Given the description of an element on the screen output the (x, y) to click on. 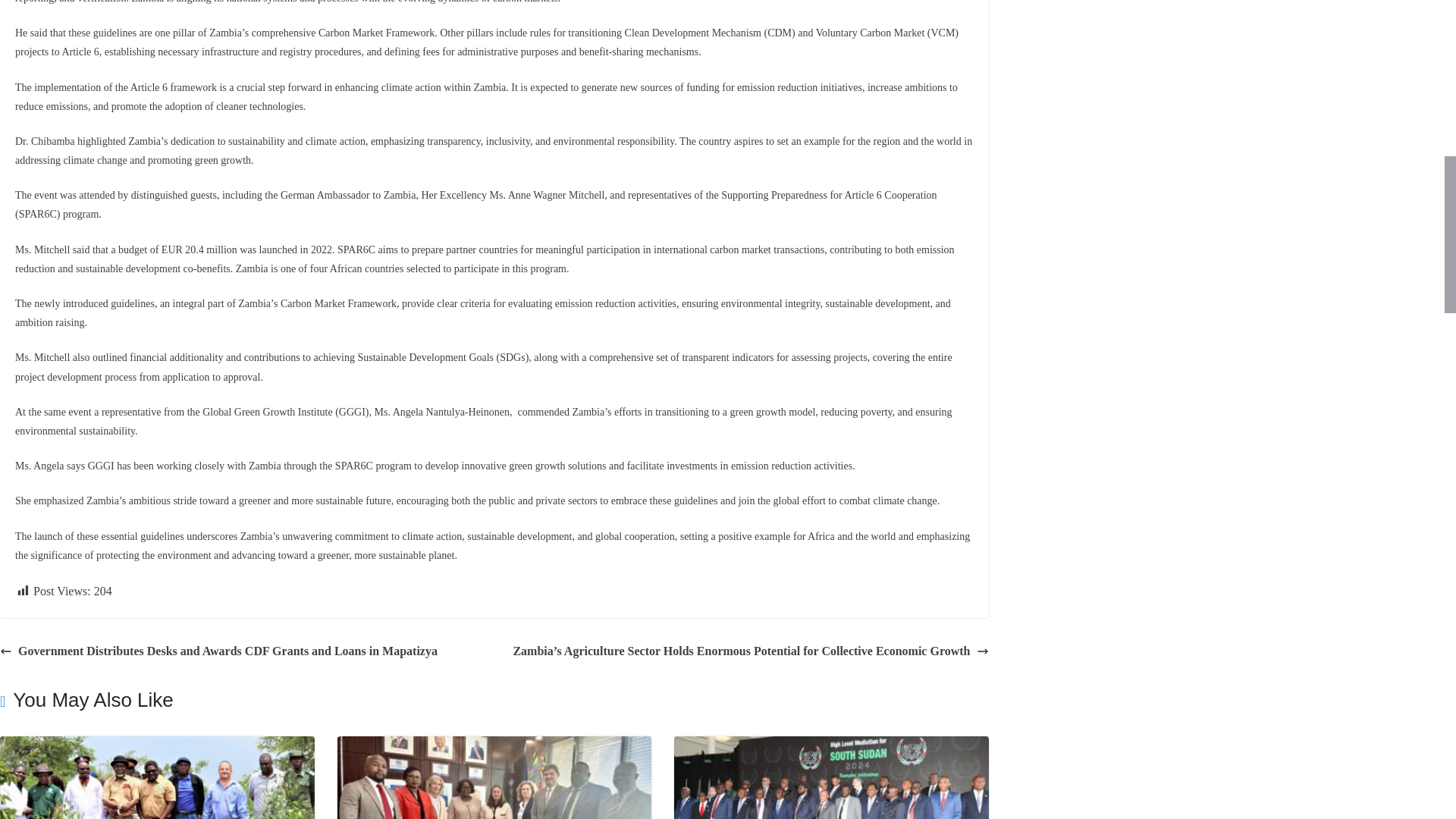
FQM Expands Tree Planting Efforts in Solwezi, Zambia (157, 746)
